Given the description of an element on the screen output the (x, y) to click on. 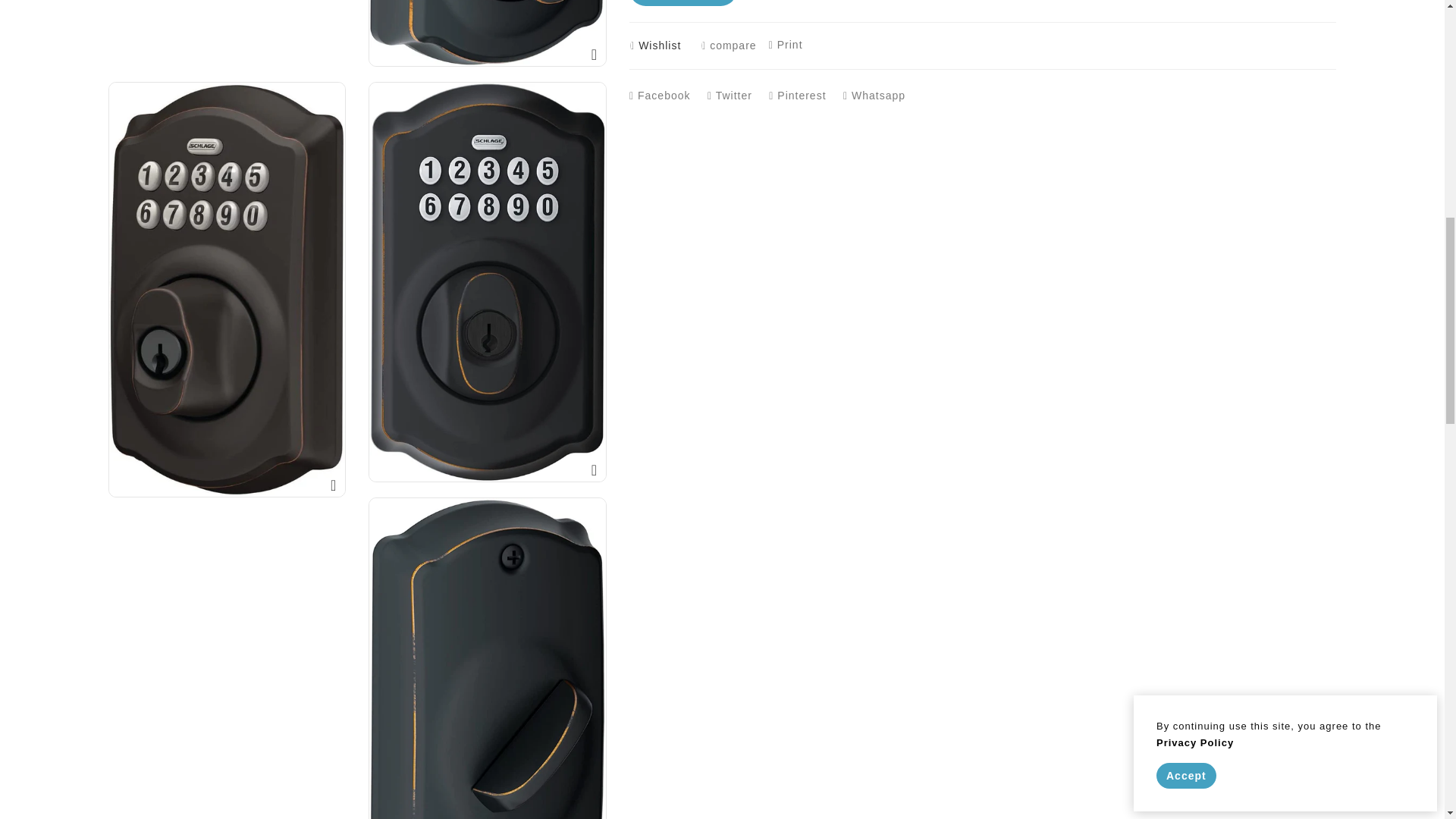
Wishlist (658, 45)
compare (728, 45)
Print (785, 44)
